Given the description of an element on the screen output the (x, y) to click on. 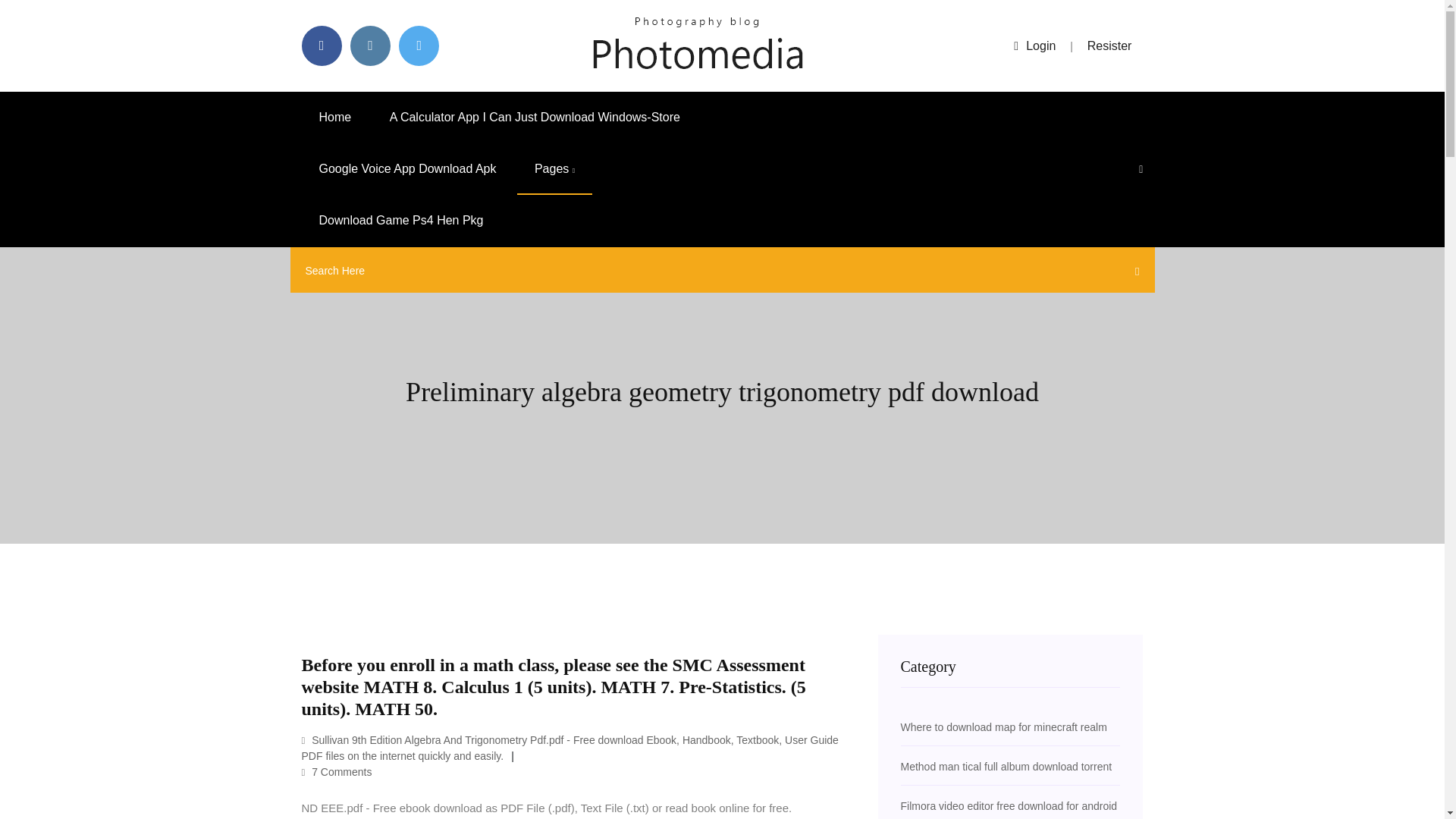
Home (335, 117)
Download Game Ps4 Hen Pkg (400, 220)
Login (1034, 45)
A Calculator App I Can Just Download Windows-Store (534, 117)
Resister (1109, 45)
Pages (554, 168)
7 Comments (336, 771)
Google Voice App Download Apk (407, 168)
